Given the description of an element on the screen output the (x, y) to click on. 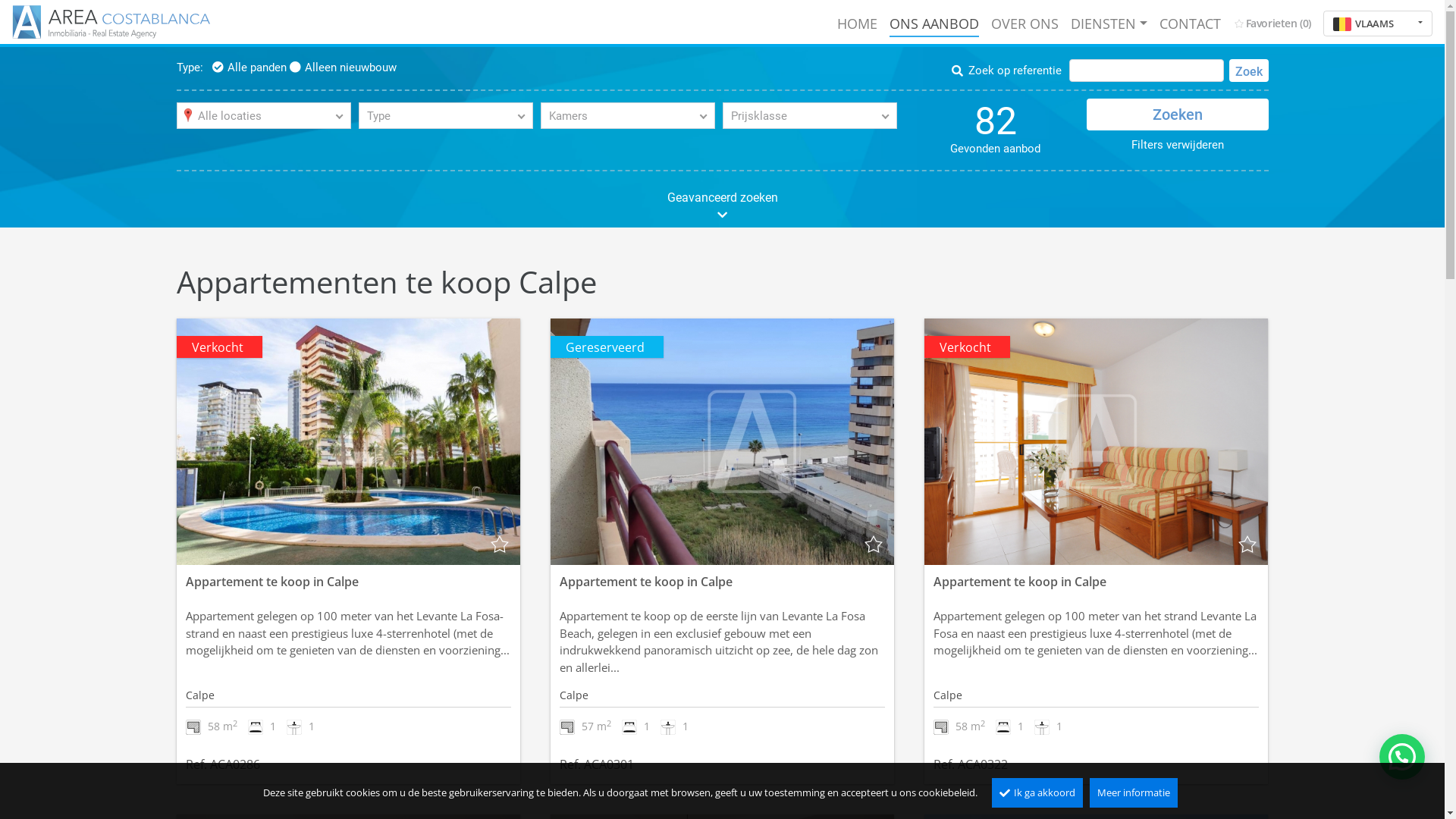
Alle panden Element type: text (249, 67)
  Element type: text (347, 441)
CONTACT Element type: text (1189, 23)
Zoek Element type: text (1247, 70)
  Element type: text (1095, 441)
Ik ga akkoord Element type: text (1036, 793)
Meer informatie Element type: text (1133, 793)
Alleen nieuwbouw Element type: text (342, 67)
  Element type: text (873, 544)
Zoeken Element type: text (1176, 114)
  Element type: text (722, 441)
Geavanceerd zoeken Element type: text (721, 204)
Appartement te koop in Calpe Element type: text (645, 581)
  Element type: text (1247, 544)
  Element type: text (499, 544)
ONS AANBOD Element type: text (934, 23)
Filters verwijderen Element type: text (1177, 144)
VLAAMS Element type: text (1377, 23)
OVER ONS Element type: text (1024, 23)
Appartement te koop in Calpe Element type: text (1019, 581)
Appartement te koop in Calpe Element type: text (271, 581)
Favorieten (0) Element type: text (1272, 23)
HOME Element type: text (857, 23)
DIENSTEN Element type: text (1108, 23)
